Given the description of an element on the screen output the (x, y) to click on. 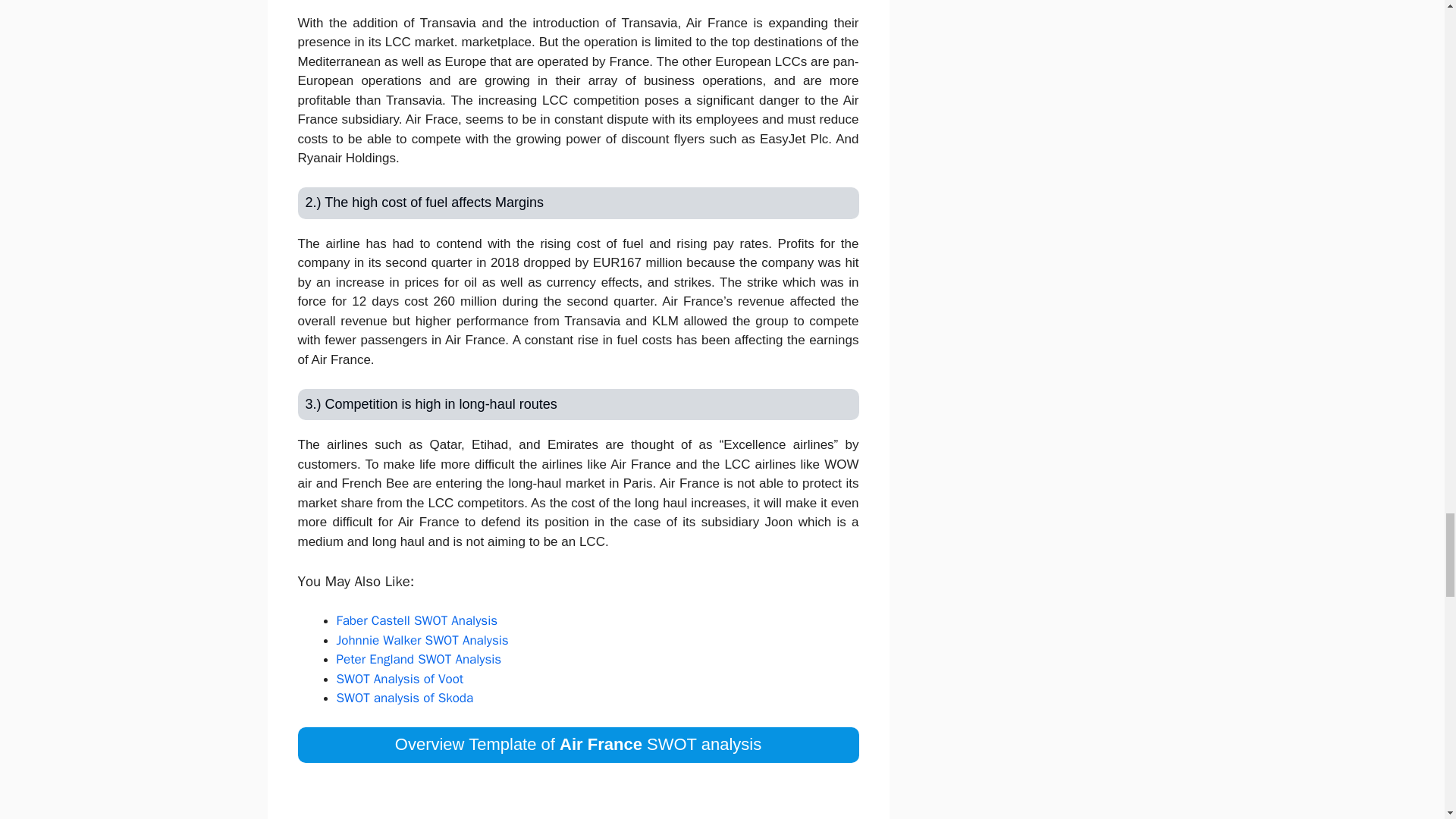
Peter England SWOT Analysis (419, 659)
SWOT Analysis of Voot (400, 678)
SWOT analysis of Skoda (405, 697)
Faber Castell SWOT Analysis (416, 620)
Johnnie Walker SWOT Analysis (422, 640)
